Given the description of an element on the screen output the (x, y) to click on. 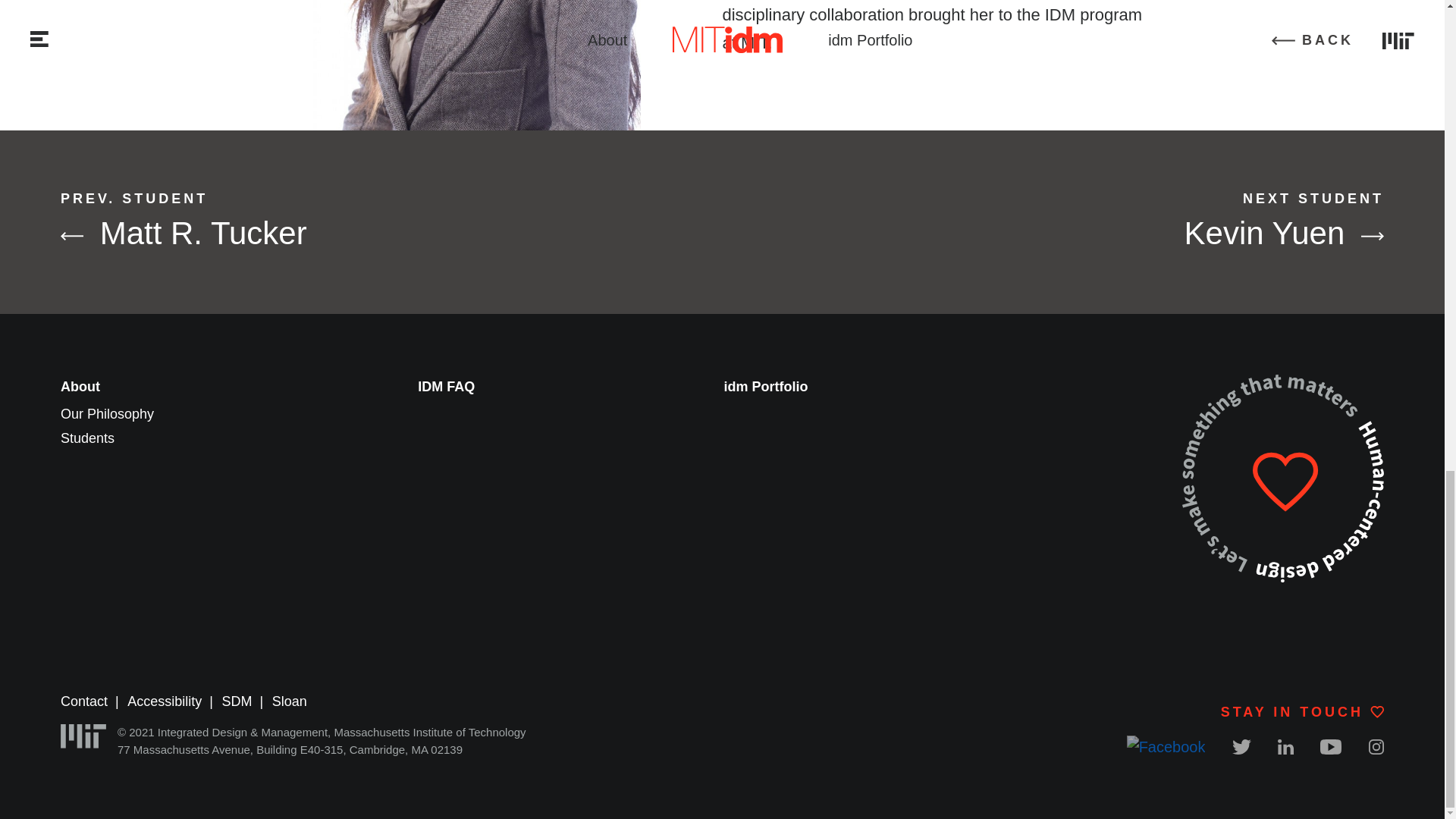
Page 18 (932, 28)
Youtube (1330, 745)
Accessibility (165, 701)
SDM (358, 220)
Sloan (236, 701)
idm Portfolio (289, 701)
Facebook (765, 386)
Our Philosophy (1086, 220)
